Given the description of an element on the screen output the (x, y) to click on. 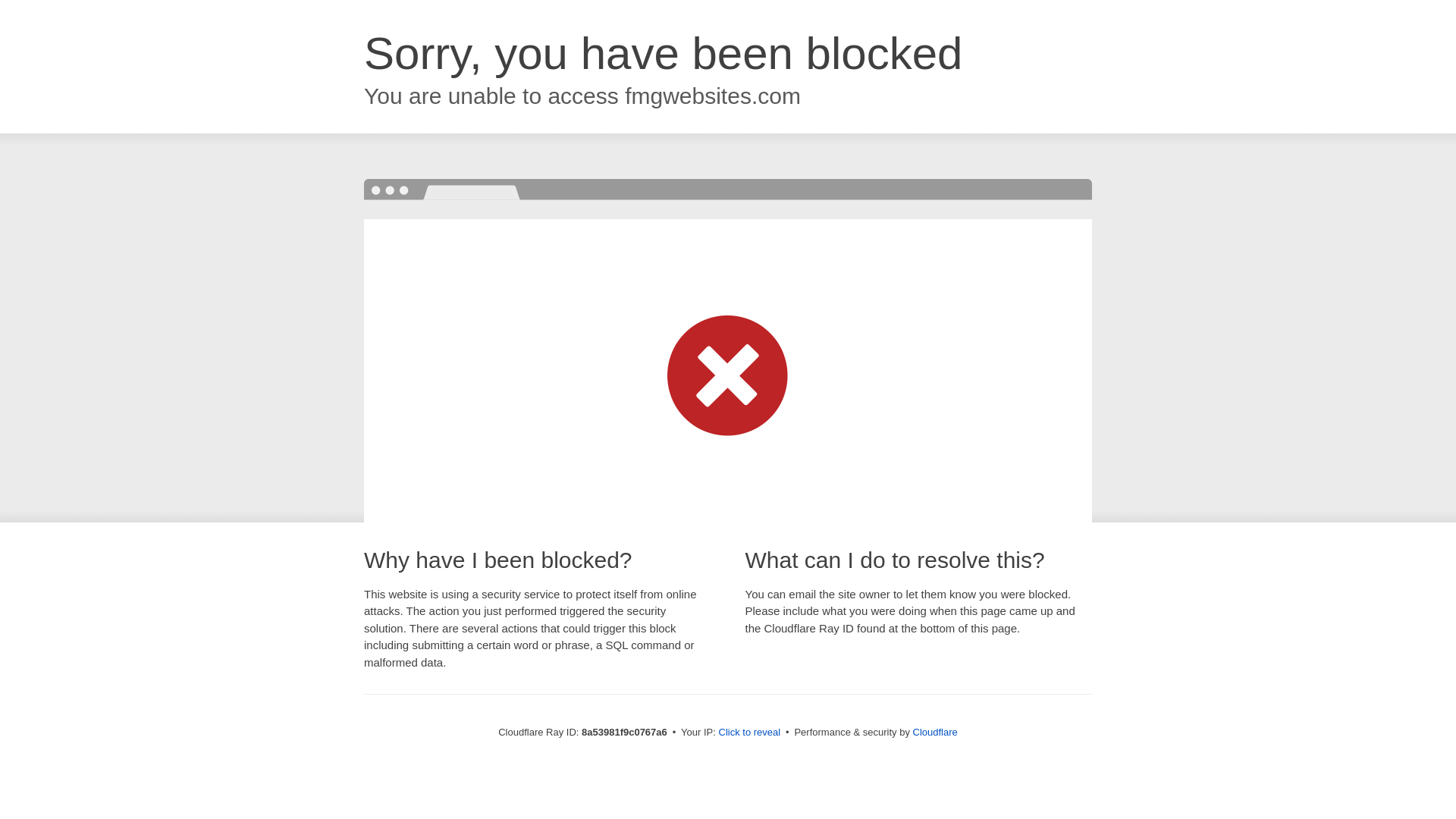
Cloudflare (935, 731)
Click to reveal (749, 732)
